Given the description of an element on the screen output the (x, y) to click on. 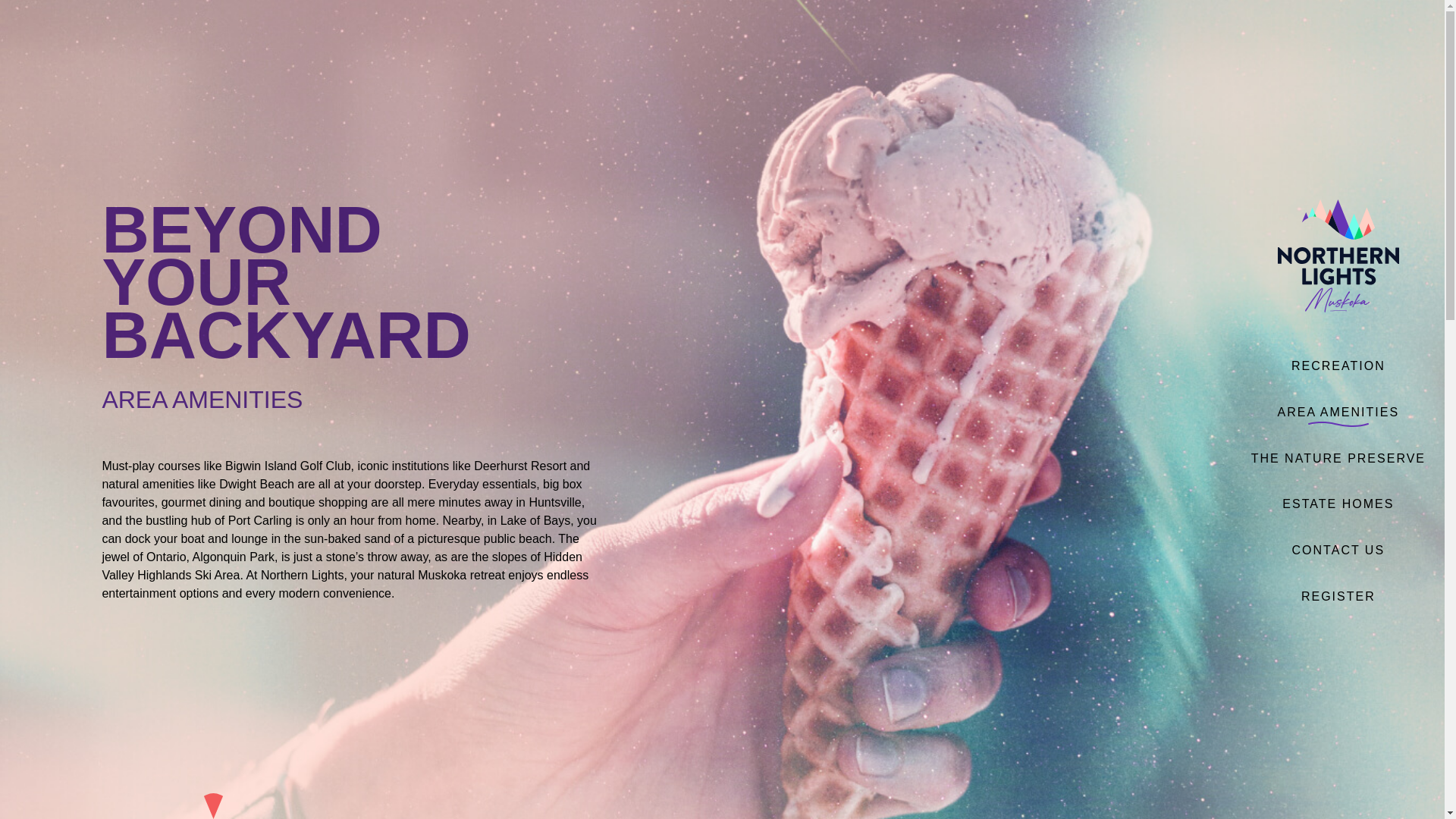
ESTATE HOMES (1337, 503)
REGISTER (1337, 596)
CONTACT US (1337, 550)
AREA AMENITIES (1337, 411)
THE NATURE PRESERVE (1337, 457)
RECREATION (1337, 366)
